Given the description of an element on the screen output the (x, y) to click on. 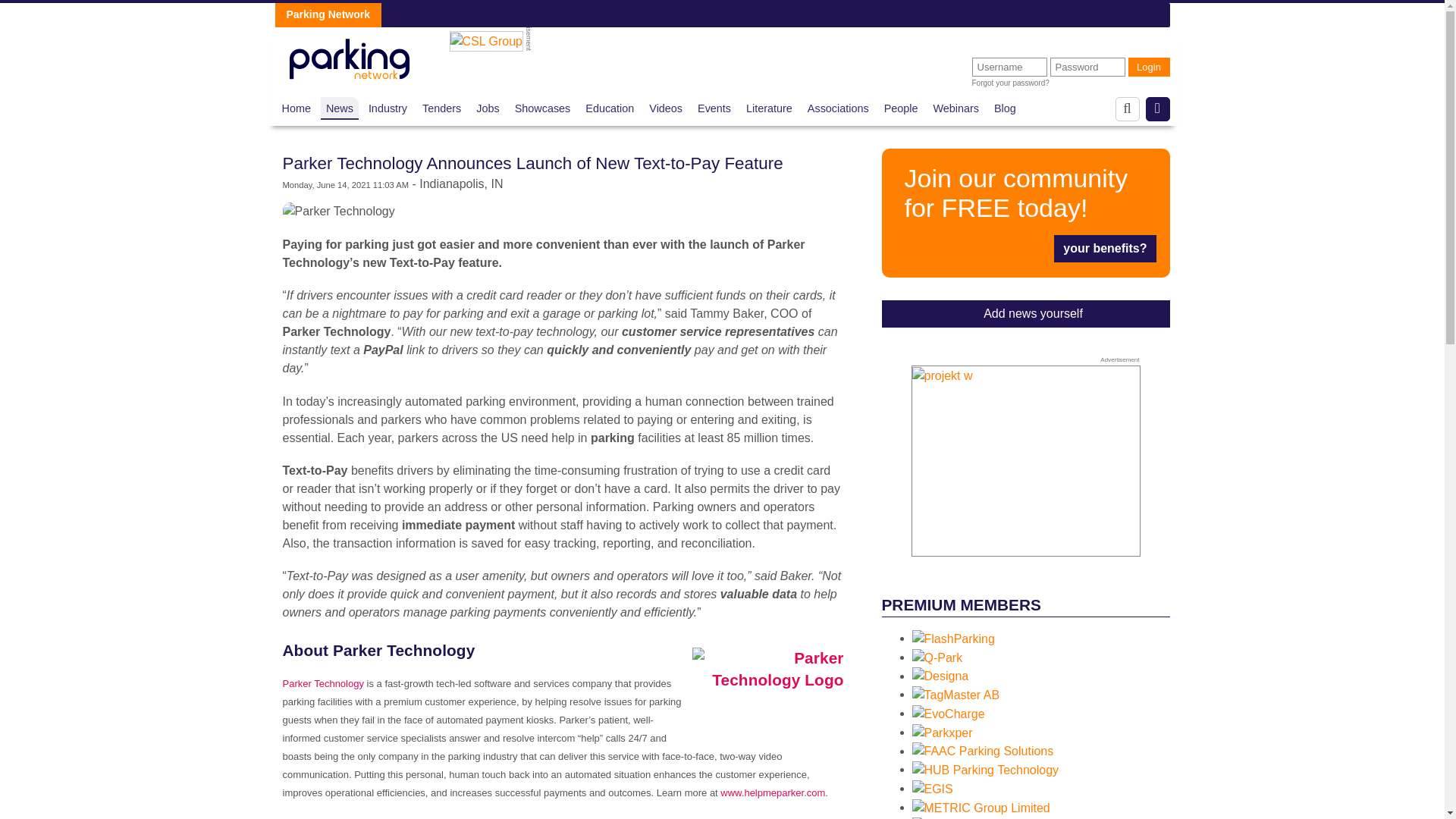
www.helpmeparker.com (772, 792)
Events (713, 108)
Parker Technology Website (772, 792)
Tenders (441, 108)
Industry (387, 108)
Parker Technology Logo (763, 685)
Parker Technology Parking Network Profile (322, 683)
Education (609, 108)
Videos (665, 108)
Parker Technology (338, 211)
